Given the description of an element on the screen output the (x, y) to click on. 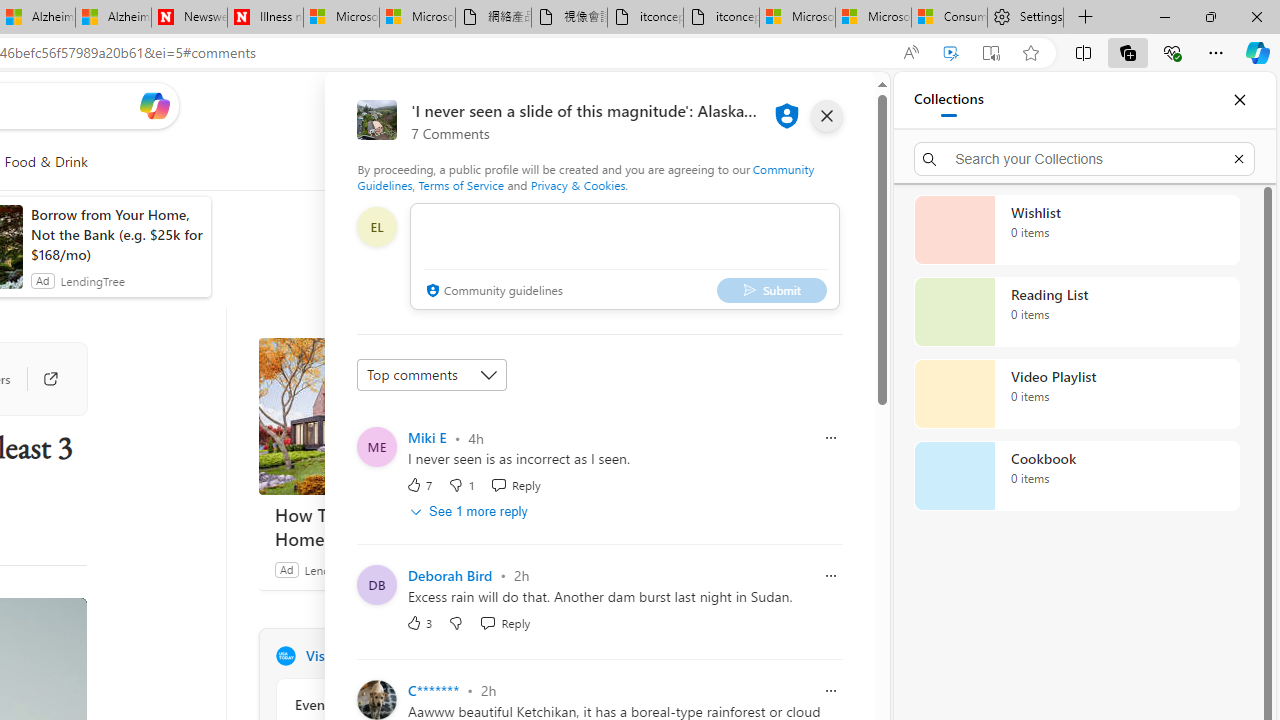
itconcepthk.com/projector_solutions.mp4 (721, 17)
Profile Picture (376, 699)
Deborah Bird (450, 575)
Exit search (1238, 158)
Personalize (511, 162)
7 Like (419, 484)
Reply Reply Comment (505, 622)
Terms of Service (461, 184)
View on Watch (58, 625)
